Given the description of an element on the screen output the (x, y) to click on. 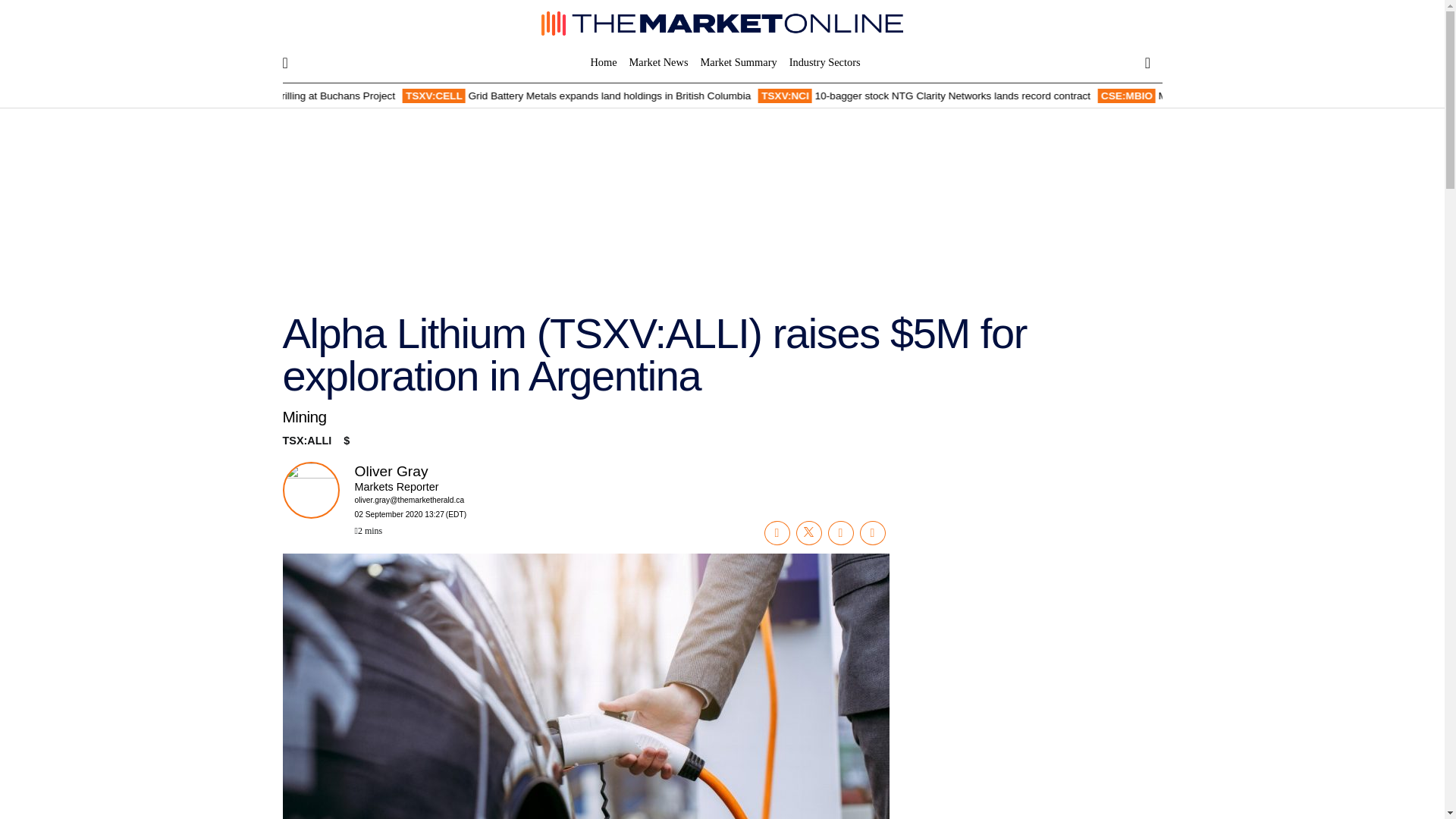
Market News (658, 62)
Home (606, 62)
Industry Sectors (821, 62)
Market Summary (738, 62)
